Given the description of an element on the screen output the (x, y) to click on. 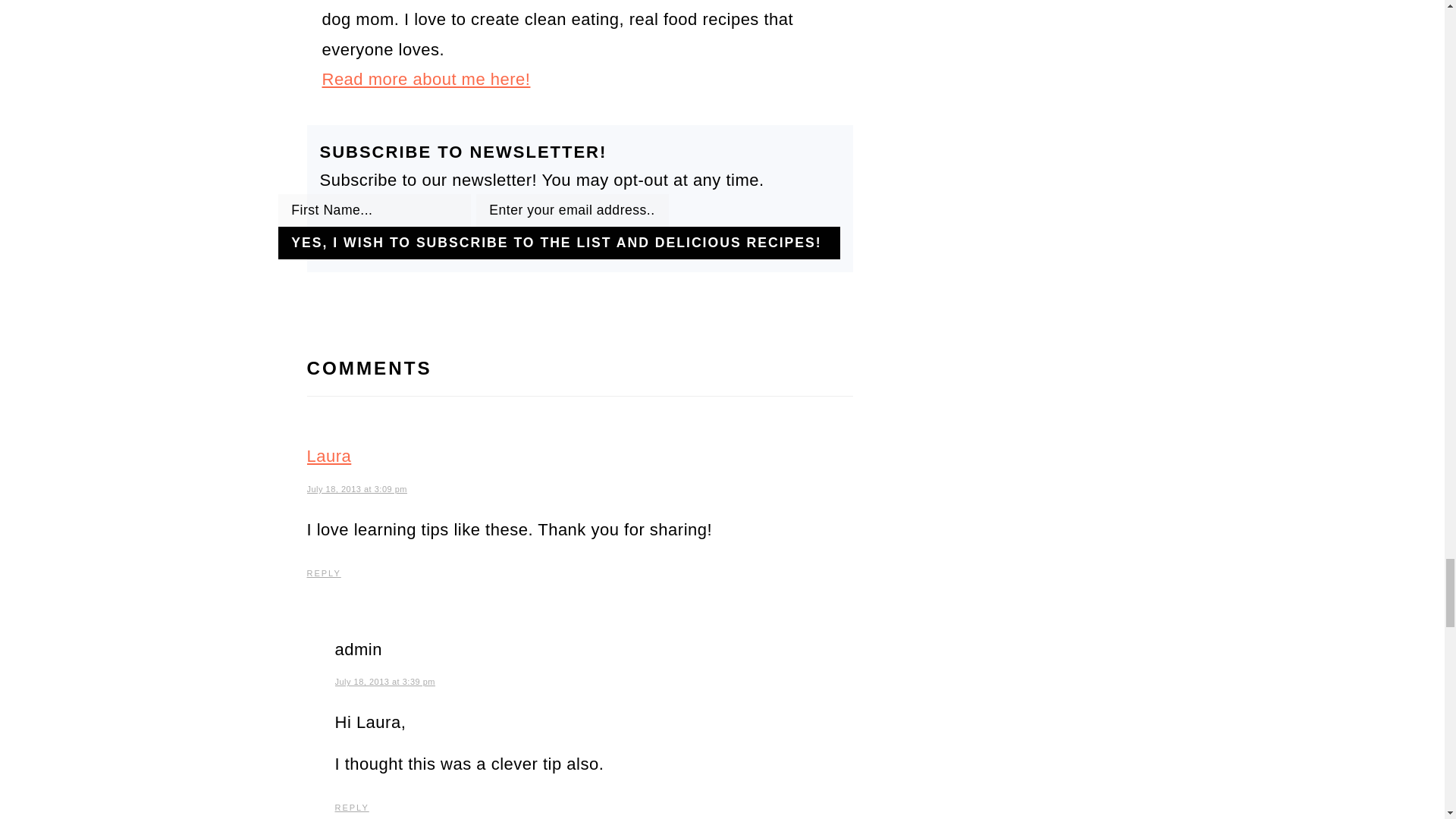
Yes, I Wish To Subscribe to the List and Delicious Recipes!  (559, 242)
